Given the description of an element on the screen output the (x, y) to click on. 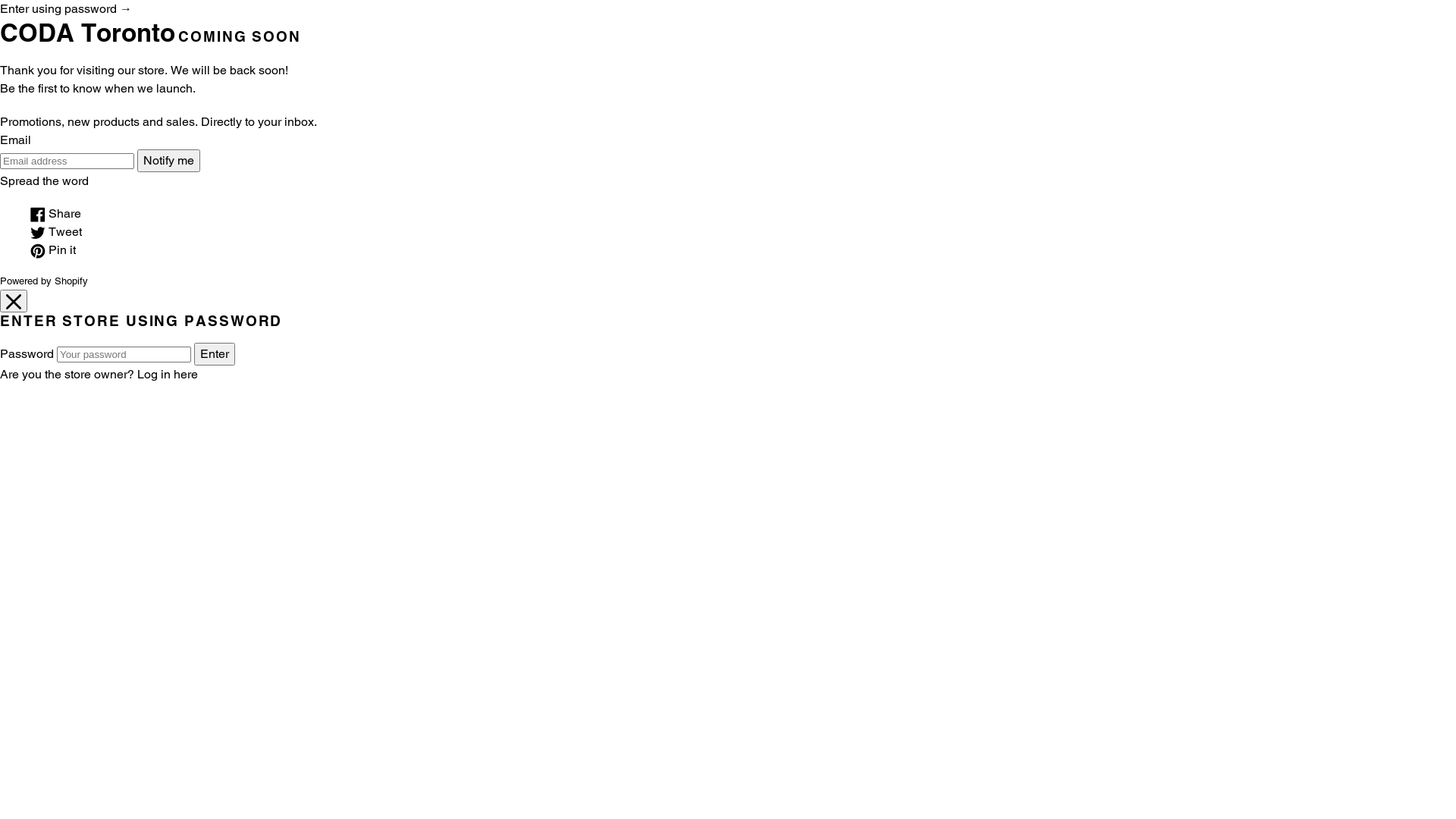
"Close" Element type: text (13, 300)
Log in here Element type: text (167, 374)
Pin it
Pin on Pinterest Element type: text (52, 249)
Powered by Shopify Element type: text (43, 280)
Tweet
Tweet on Twitter Element type: text (55, 231)
Notify me Element type: text (168, 160)
Enter Element type: text (214, 353)
Share
Share on Facebook Element type: text (55, 213)
